Given the description of an element on the screen output the (x, y) to click on. 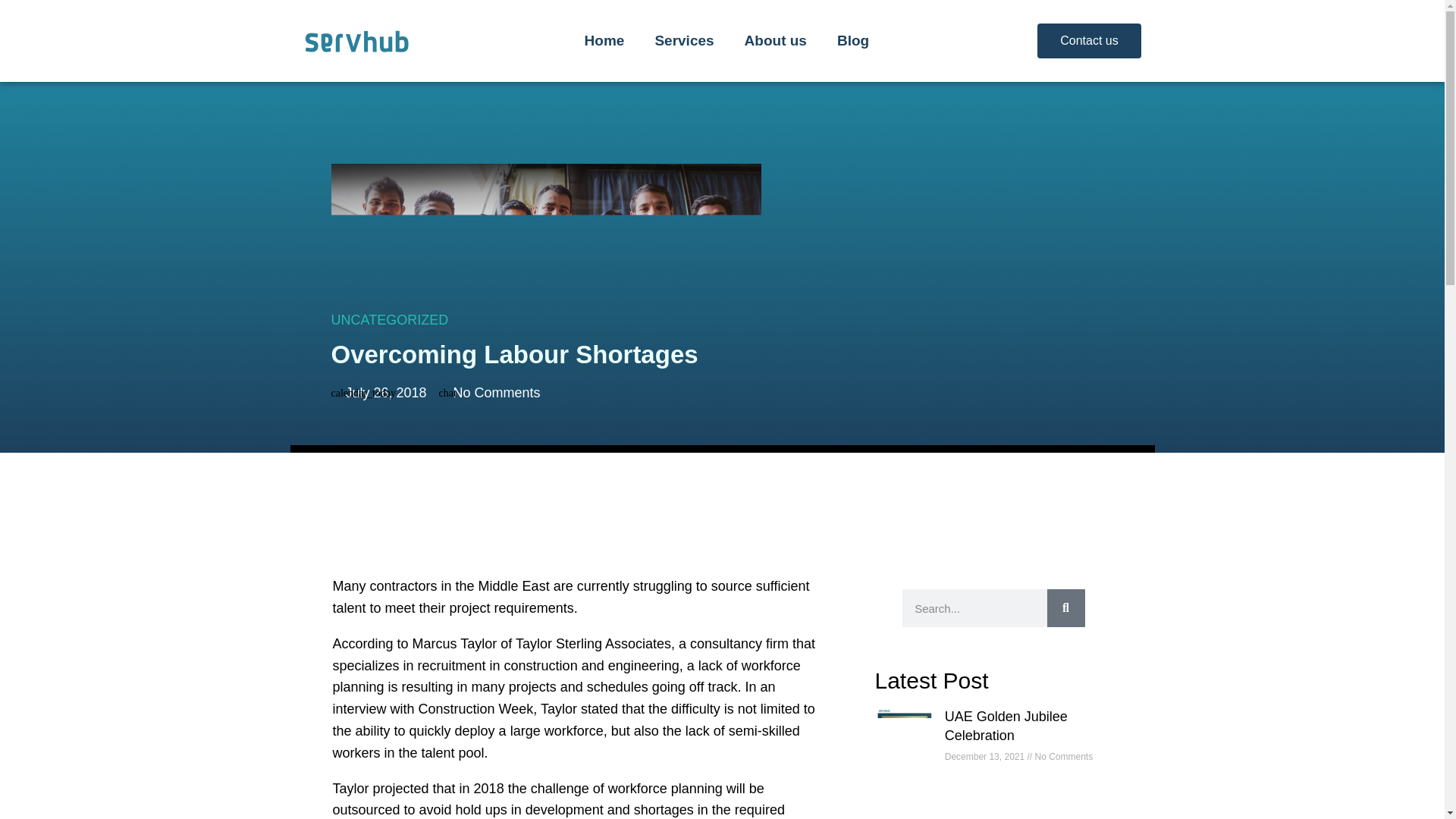
Contact us (1088, 40)
Home (604, 40)
No Comments (489, 393)
Blog (852, 40)
July 26, 2018 (378, 393)
Services (684, 40)
UAE Golden Jubilee Celebration (1005, 725)
UNCATEGORIZED (389, 319)
About us (775, 40)
servhub-logo1-01 (356, 40)
